Given the description of an element on the screen output the (x, y) to click on. 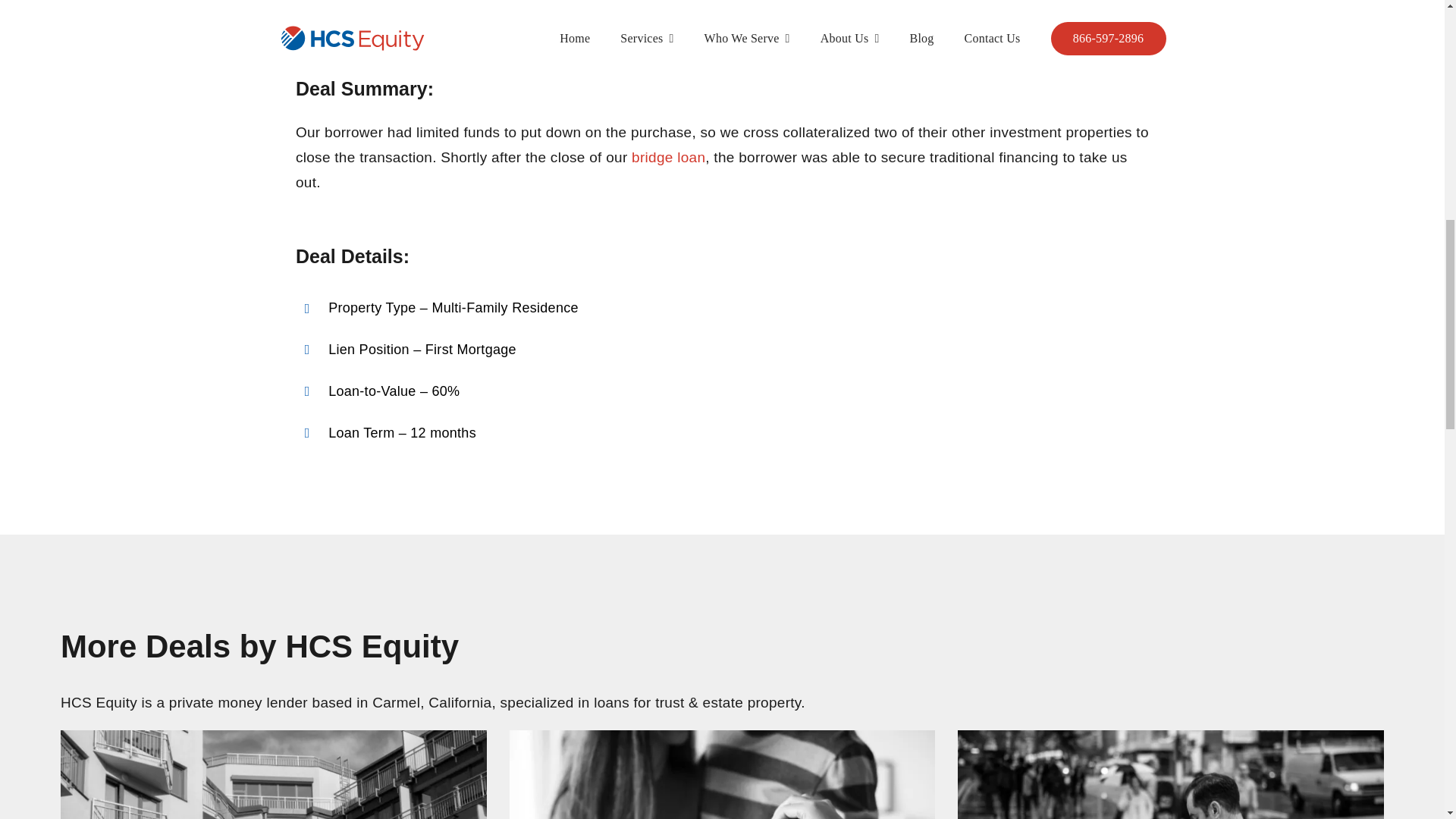
bridge loan (667, 157)
